Given the description of an element on the screen output the (x, y) to click on. 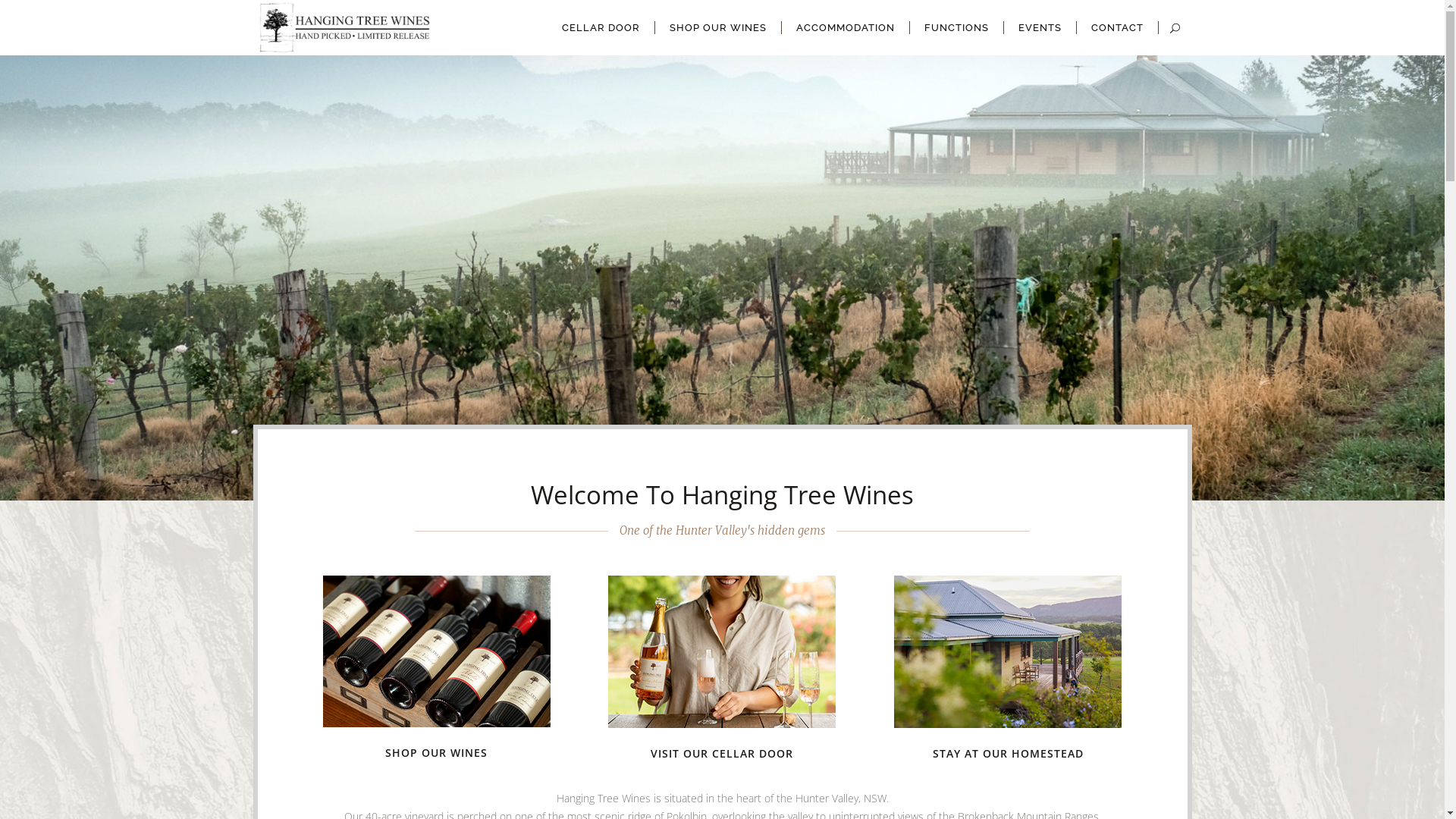
SHOP OUR WINES Element type: text (718, 27)
STAY AT OUR HOMESTEAD Element type: text (1007, 753)
SHOP OUR WINES Element type: text (436, 752)
1.HTW_shop-our-wines Element type: hover (436, 651)
CELLAR DOOR Element type: text (601, 27)
Stay at our Homestead Element type: hover (1007, 651)
FUNCTIONS Element type: text (957, 27)
VISIT OUR CELLAR DOOR Element type: text (721, 753)
EVENTS Element type: text (1040, 27)
Visit our Cellar Door Element type: hover (721, 651)
CONTACT Element type: text (1117, 27)
ACCOMMODATION Element type: text (845, 27)
